Given the description of an element on the screen output the (x, y) to click on. 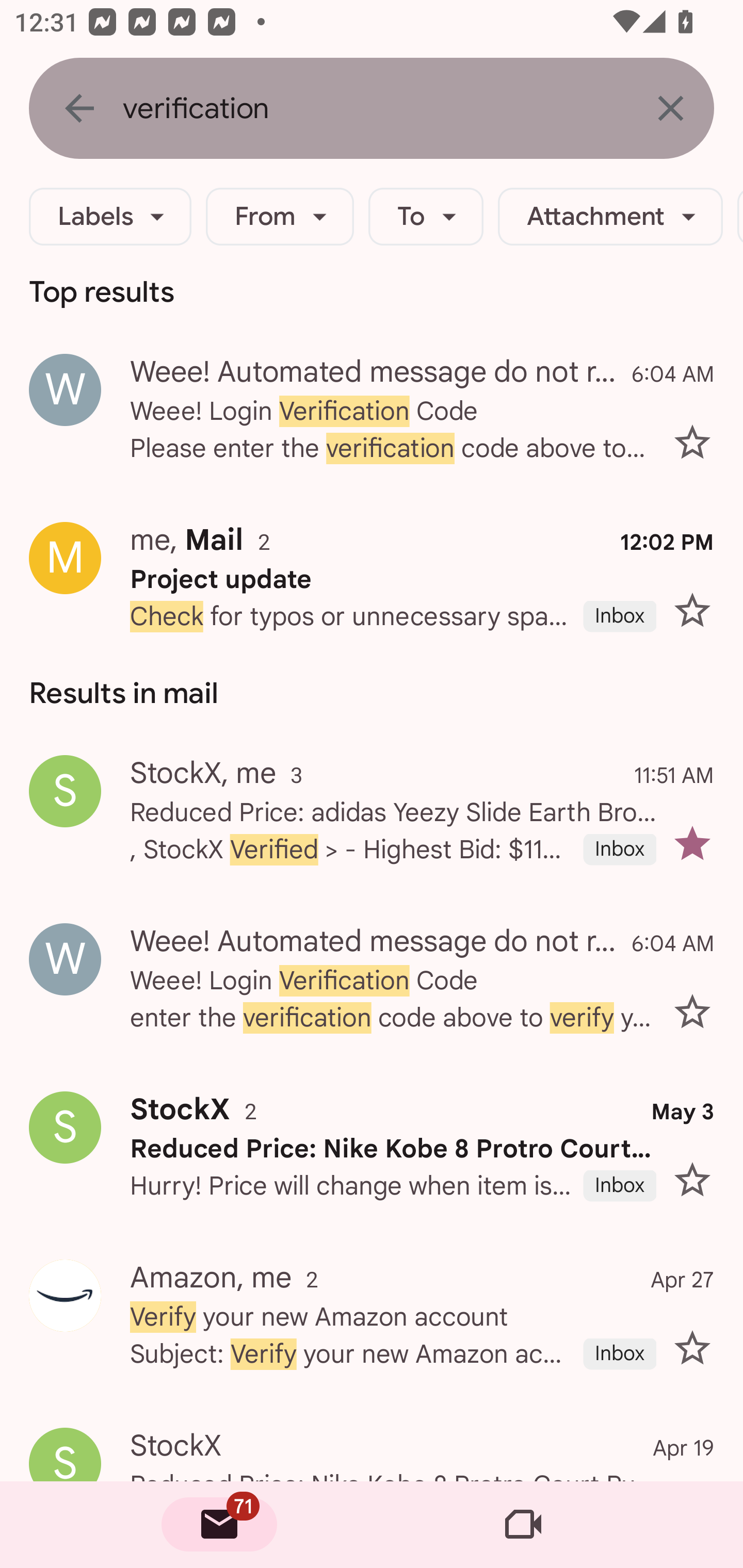
Navigate up (79, 108)
Clear search text (670, 108)
Labels (109, 217)
From (279, 217)
To (425, 217)
Attachment (609, 217)
Meet (523, 1524)
